Given the description of an element on the screen output the (x, y) to click on. 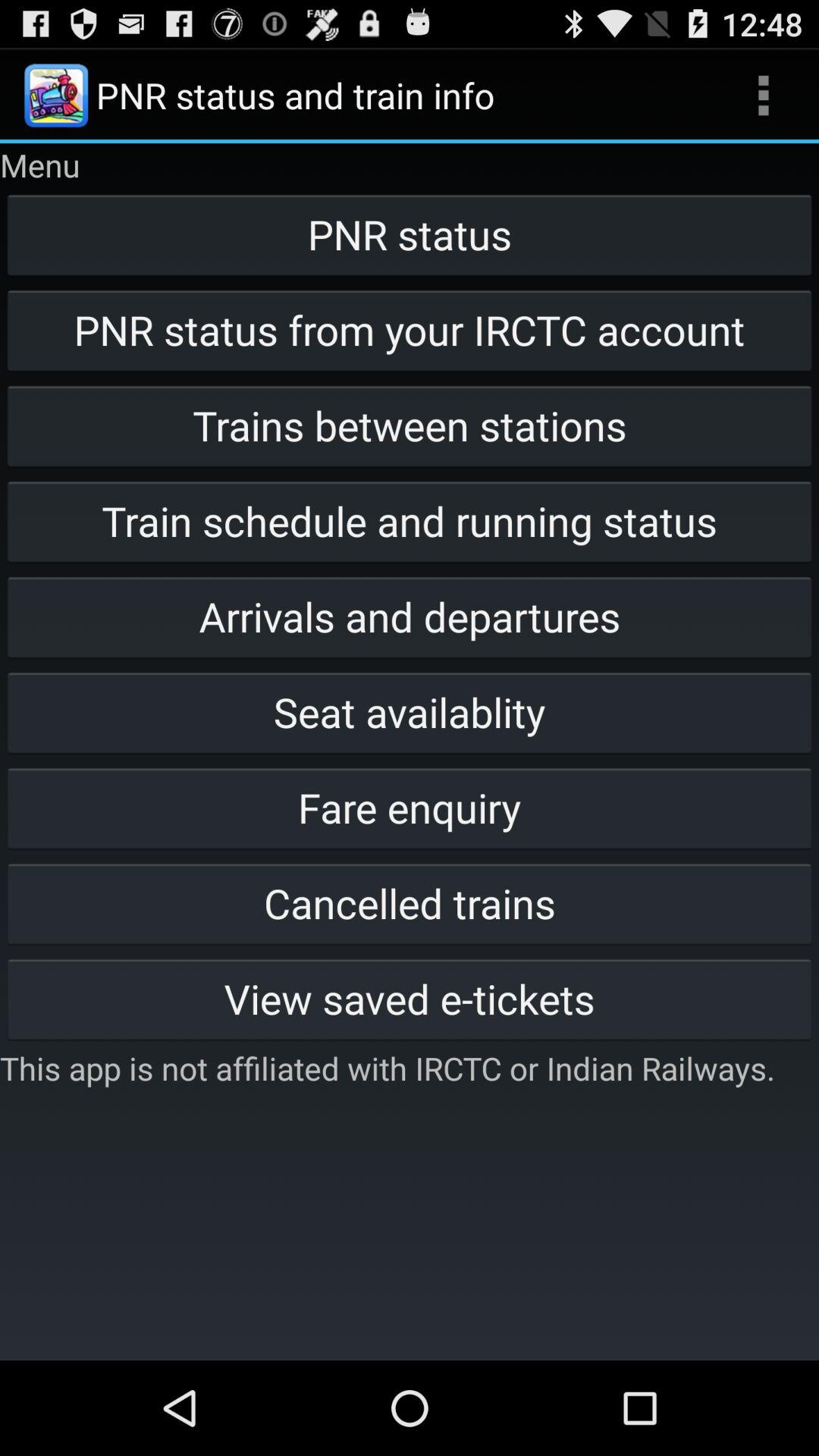
tap the button below train schedule and icon (409, 616)
